Given the description of an element on the screen output the (x, y) to click on. 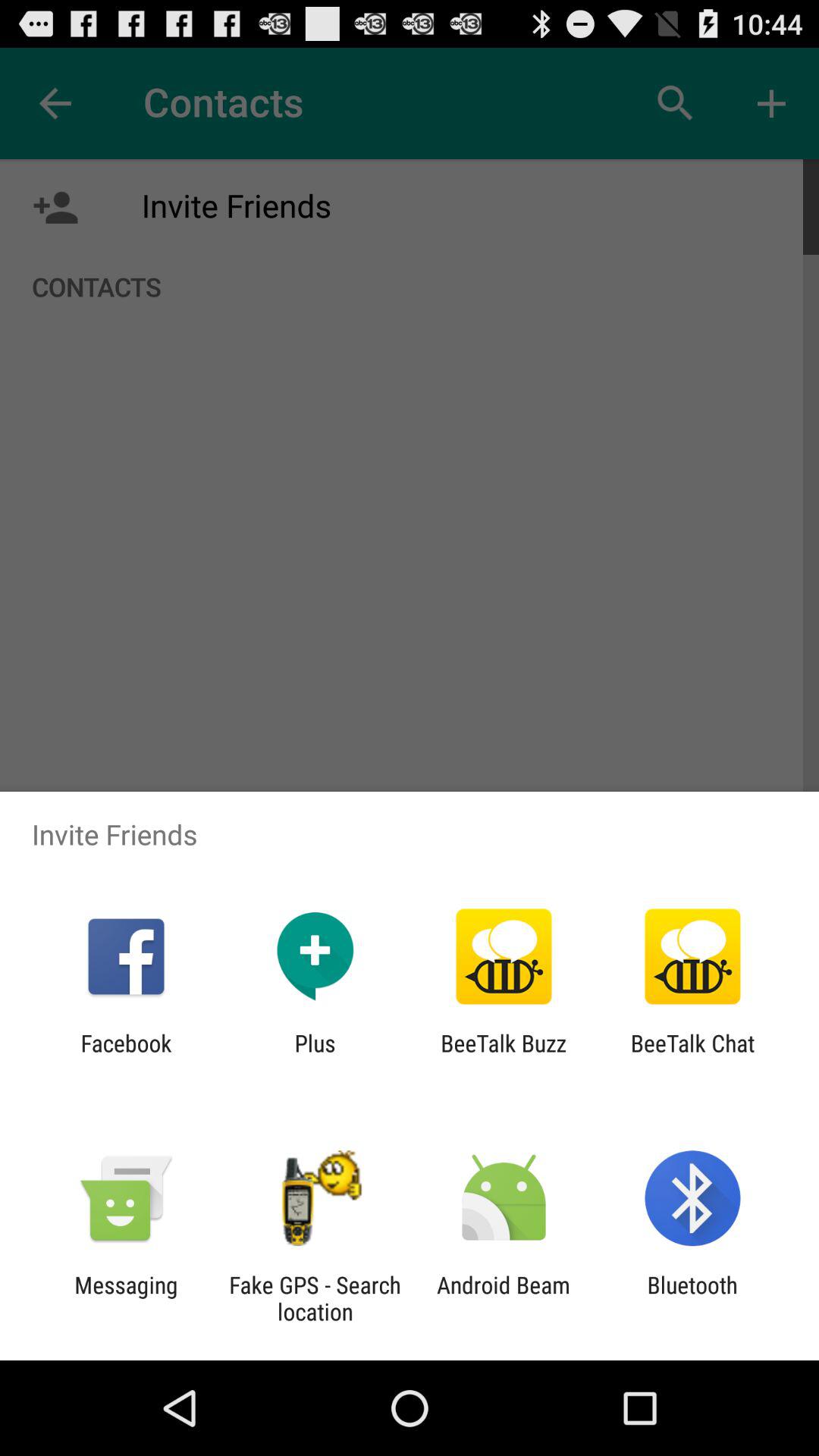
choose the app next to the android beam app (314, 1298)
